Given the description of an element on the screen output the (x, y) to click on. 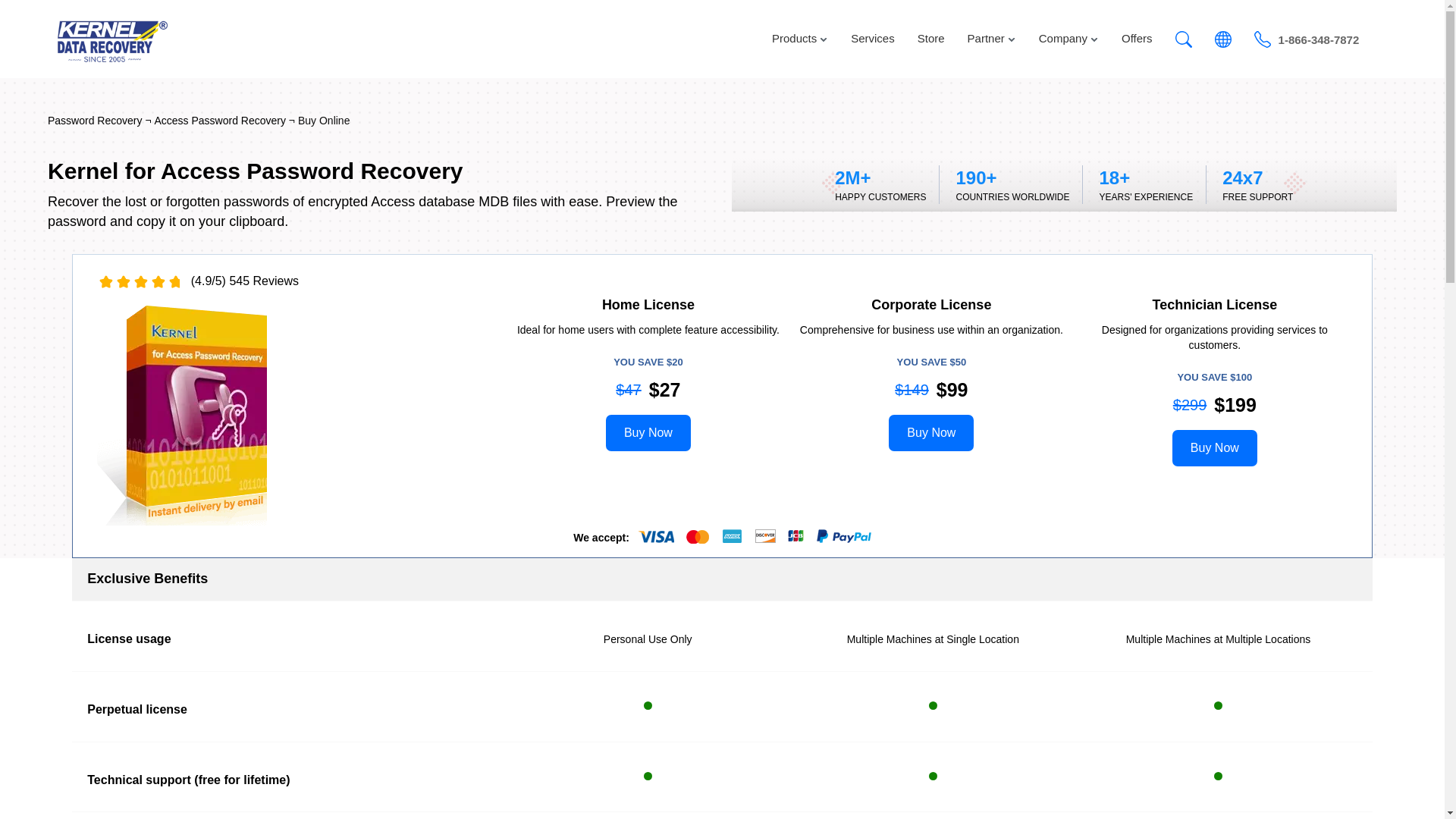
Buy Now (931, 433)
Buy Now (647, 433)
Buy Now (1214, 447)
Access Password Recovery (219, 120)
Password Recovery (95, 120)
Products (800, 38)
